Given the description of an element on the screen output the (x, y) to click on. 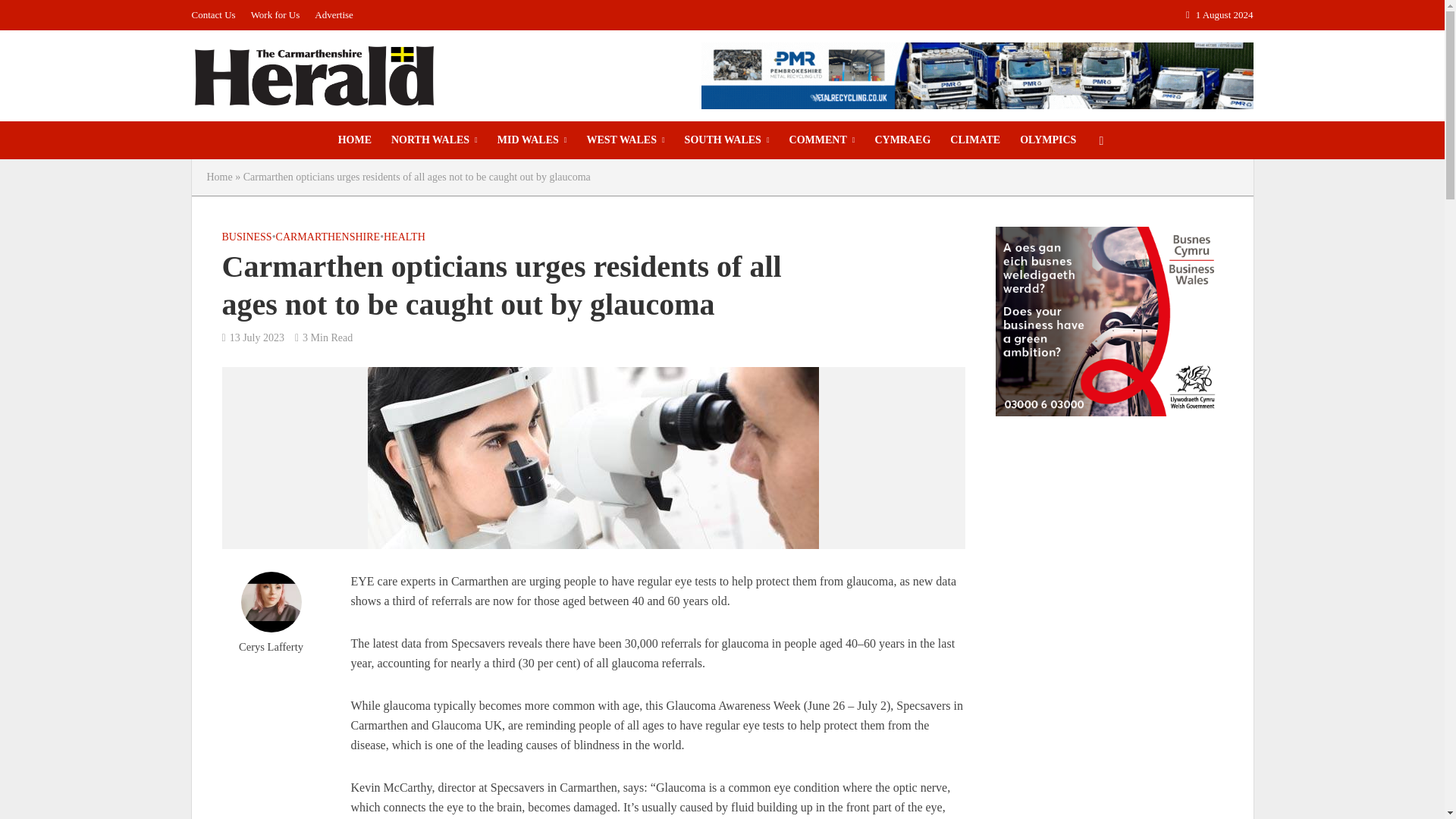
COMMENT (821, 139)
Contact Us (216, 15)
HOME (355, 139)
Work for Us (275, 15)
MID WALES (531, 139)
OLYMPICS (1048, 139)
NORTH WALES (434, 139)
SOUTH WALES (726, 139)
CLIMATE (975, 139)
CYMRAEG (902, 139)
